Given the description of an element on the screen output the (x, y) to click on. 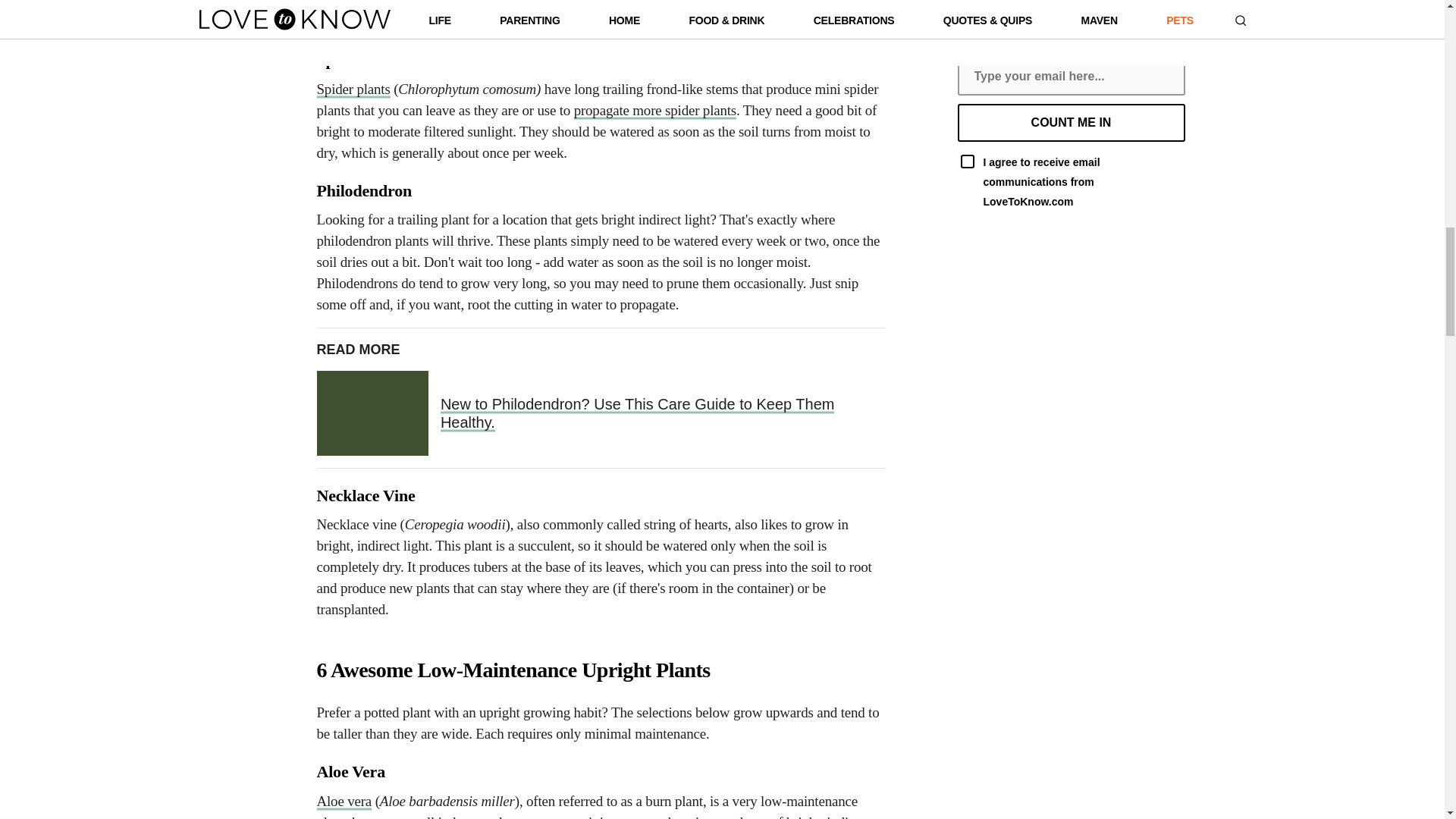
Growing Aloe Vera Plants (344, 801)
Spider Plant Care Tips for a Healthy Plant (353, 89)
How to Propogate a Spider Plant in 3 Easy Ways (654, 109)
on (966, 161)
